Given the description of an element on the screen output the (x, y) to click on. 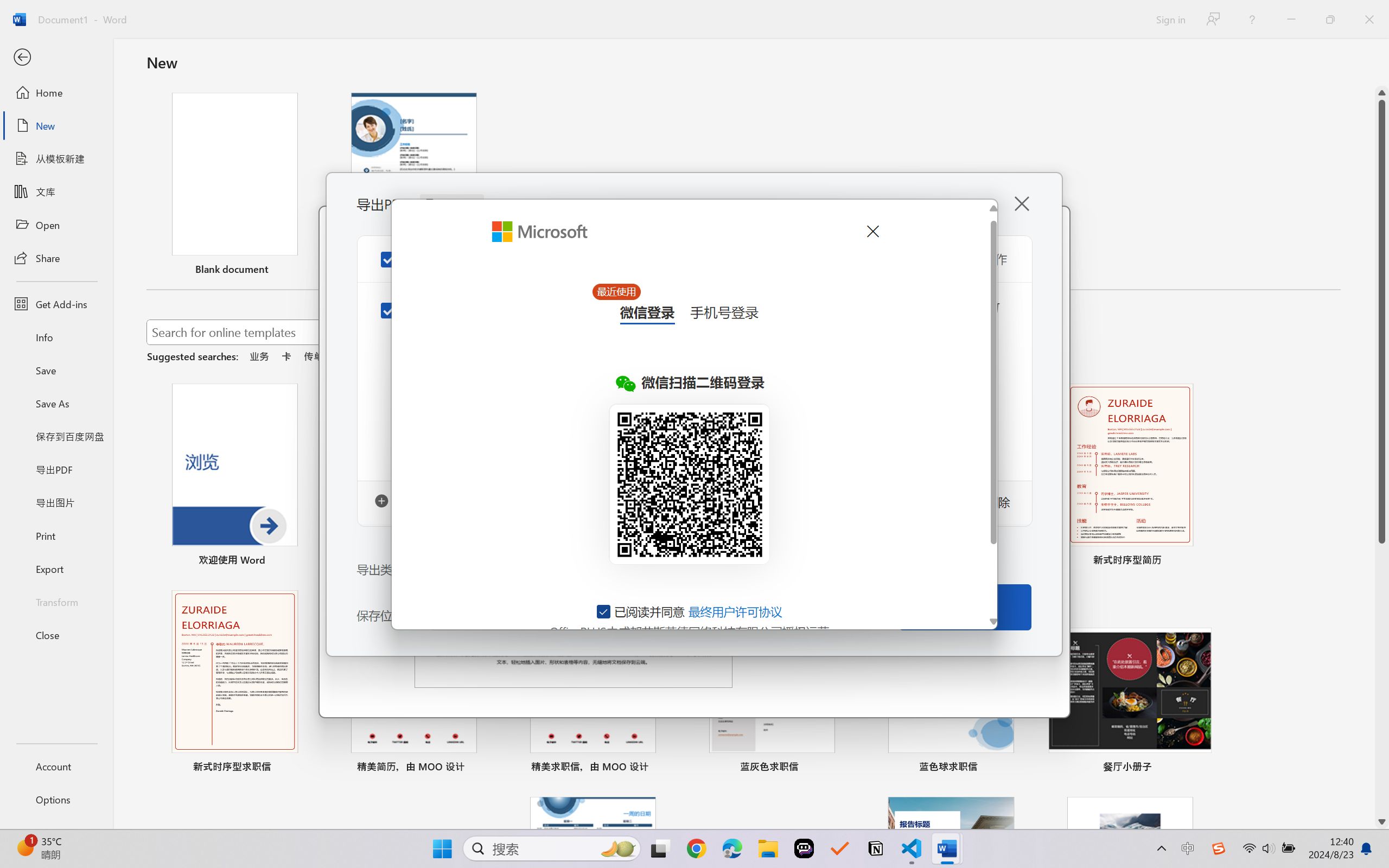
Pin to list (1200, 767)
Print (56, 535)
Previous Template (342, 479)
